Given the description of an element on the screen output the (x, y) to click on. 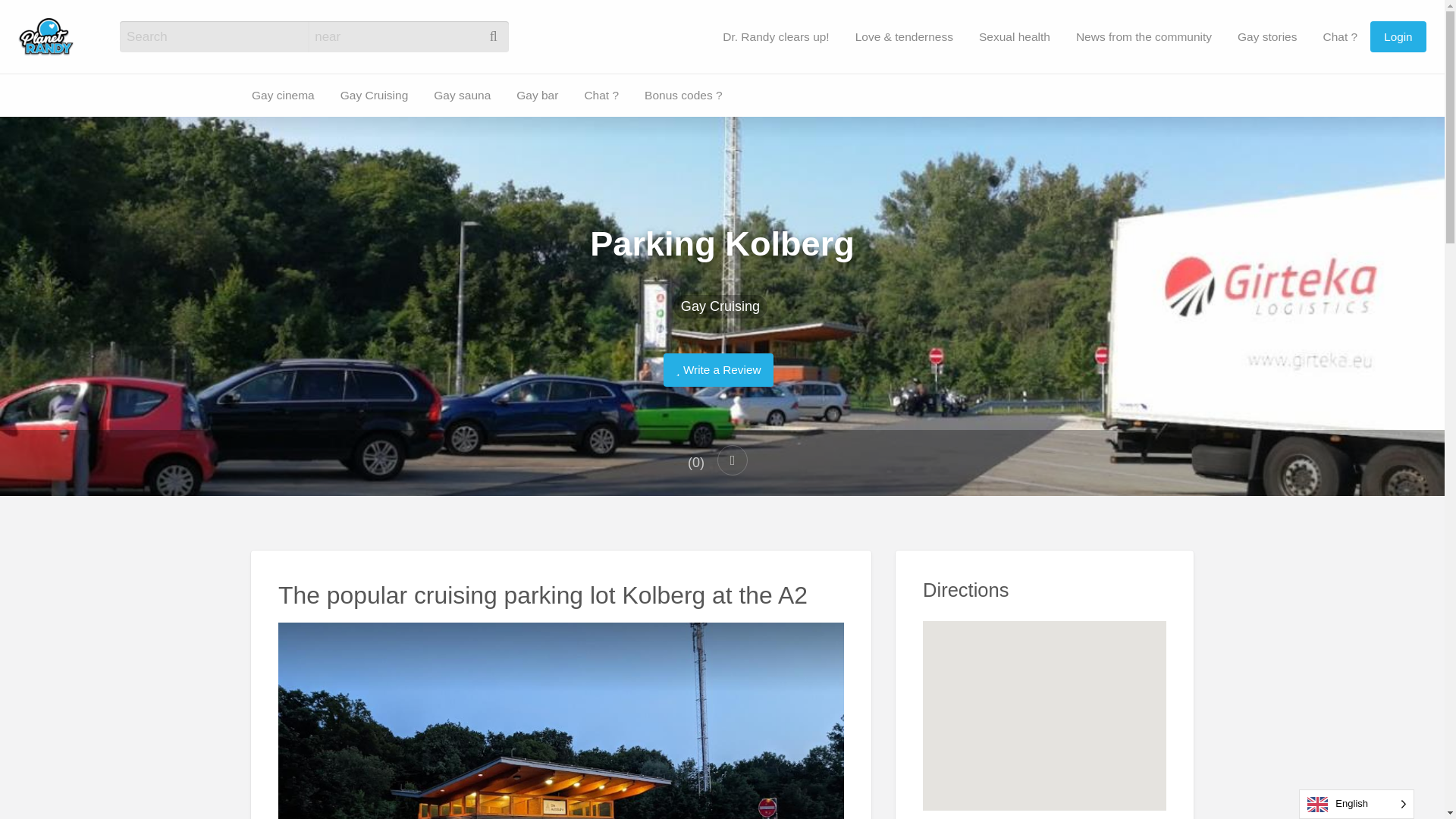
You must be logged in to save favorites. (732, 460)
Gay stories (1266, 36)
Search (30, 16)
Chat ? (600, 94)
Gay Cruising (719, 306)
News from the community (1143, 36)
Search (30, 16)
Dr. Randy clears up! (775, 36)
Gay bar (44, 123)
Sexual health (1014, 36)
Planet-Randy (152, 34)
Gay sauna (461, 94)
Chat ? (97, 123)
Gay Cruising (374, 94)
Write a Review (718, 368)
